Given the description of an element on the screen output the (x, y) to click on. 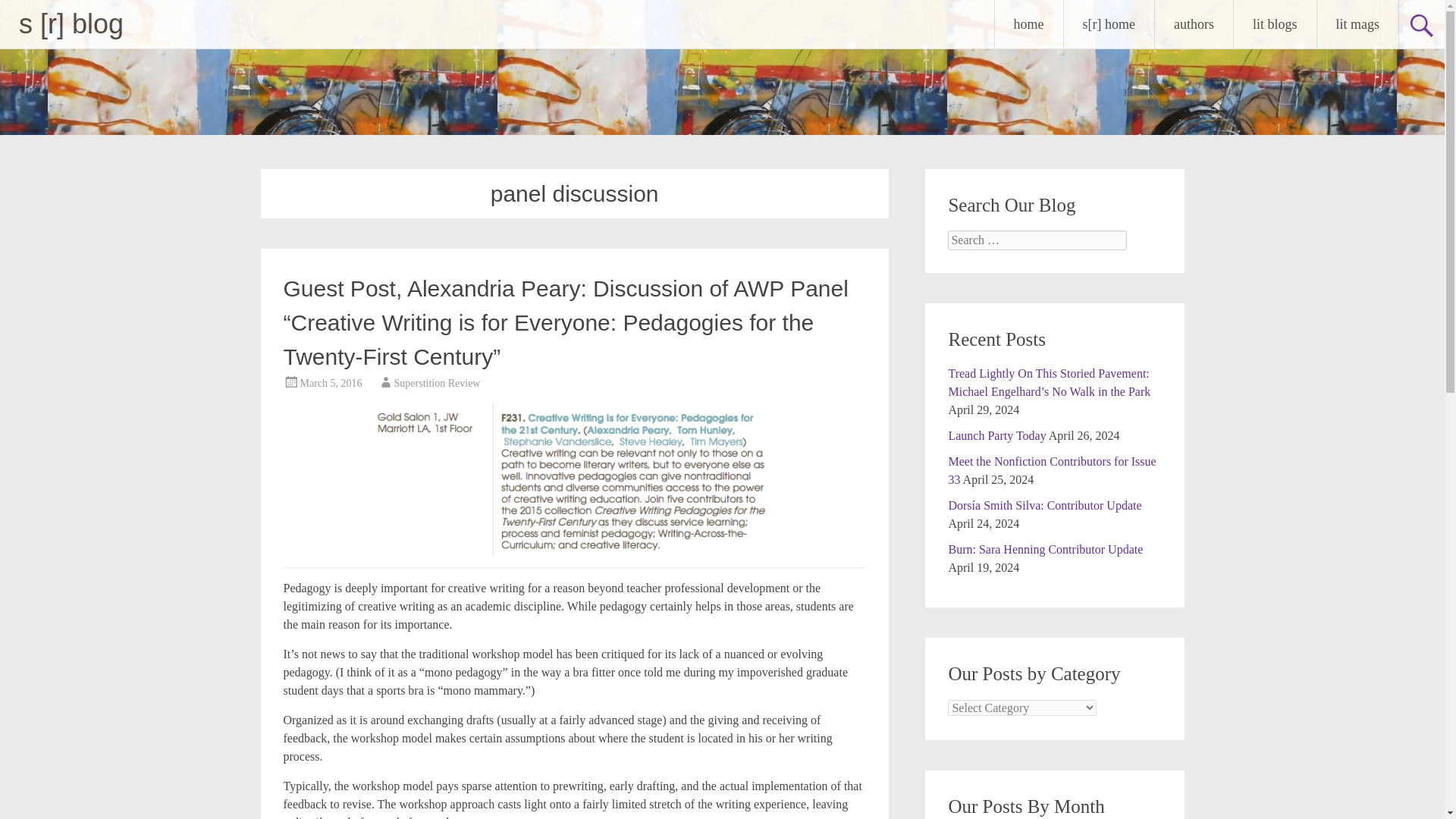
home (1028, 24)
authors (1193, 24)
March 5, 2016 (330, 383)
Meet the Nonfiction Contributors for Issue 33 (1051, 470)
Burn: Sara Henning Contributor Update (1044, 549)
lit blogs (1274, 24)
Superstition Review (437, 383)
Launch Party Today (996, 435)
lit mags (1356, 24)
Search (26, 12)
